Given the description of an element on the screen output the (x, y) to click on. 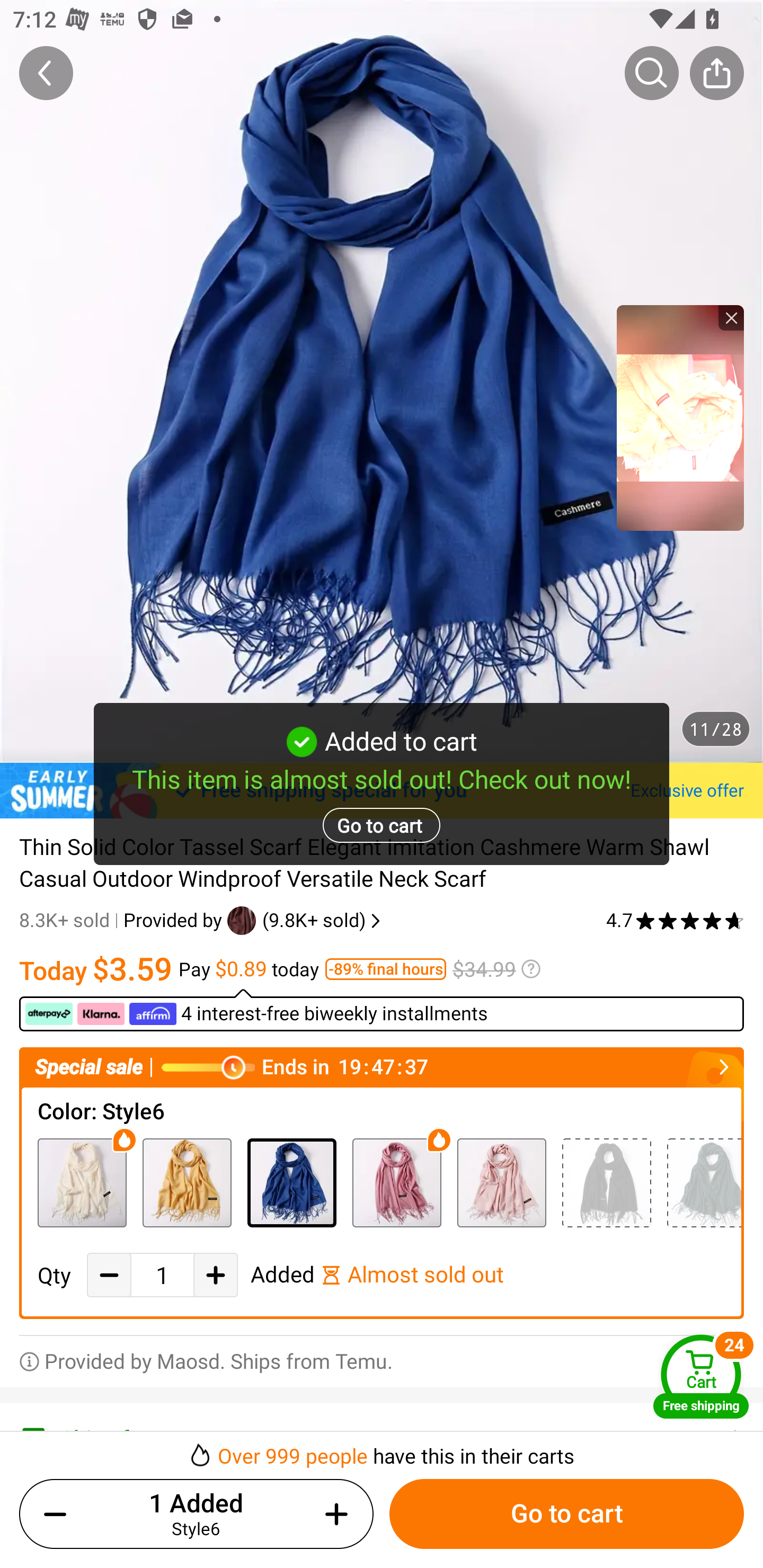
Back (46, 72)
Share (716, 72)
8.3K+ sold Provided by  (123, 920)
4.7 (674, 920)
￼ ￼ ￼ 4 interest-free biweekly installments (381, 1009)
Special sale Ends in￼￼ (381, 1067)
Style2 (81, 1182)
Style3 (186, 1182)
Style6 (291, 1182)
14 (396, 1182)
Color #15 (501, 1182)
Style1 (606, 1182)
Style4 (703, 1182)
Decrease Quantity Button (108, 1274)
Add Quantity button (215, 1274)
1 (162, 1275)
Cart Free shipping Cart (701, 1375)
￼￼Over 999 people have this in their carts (381, 1450)
Decrease Quantity Button (59, 1513)
Add Quantity button (332, 1513)
Go to cart (566, 1513)
